Given the description of an element on the screen output the (x, y) to click on. 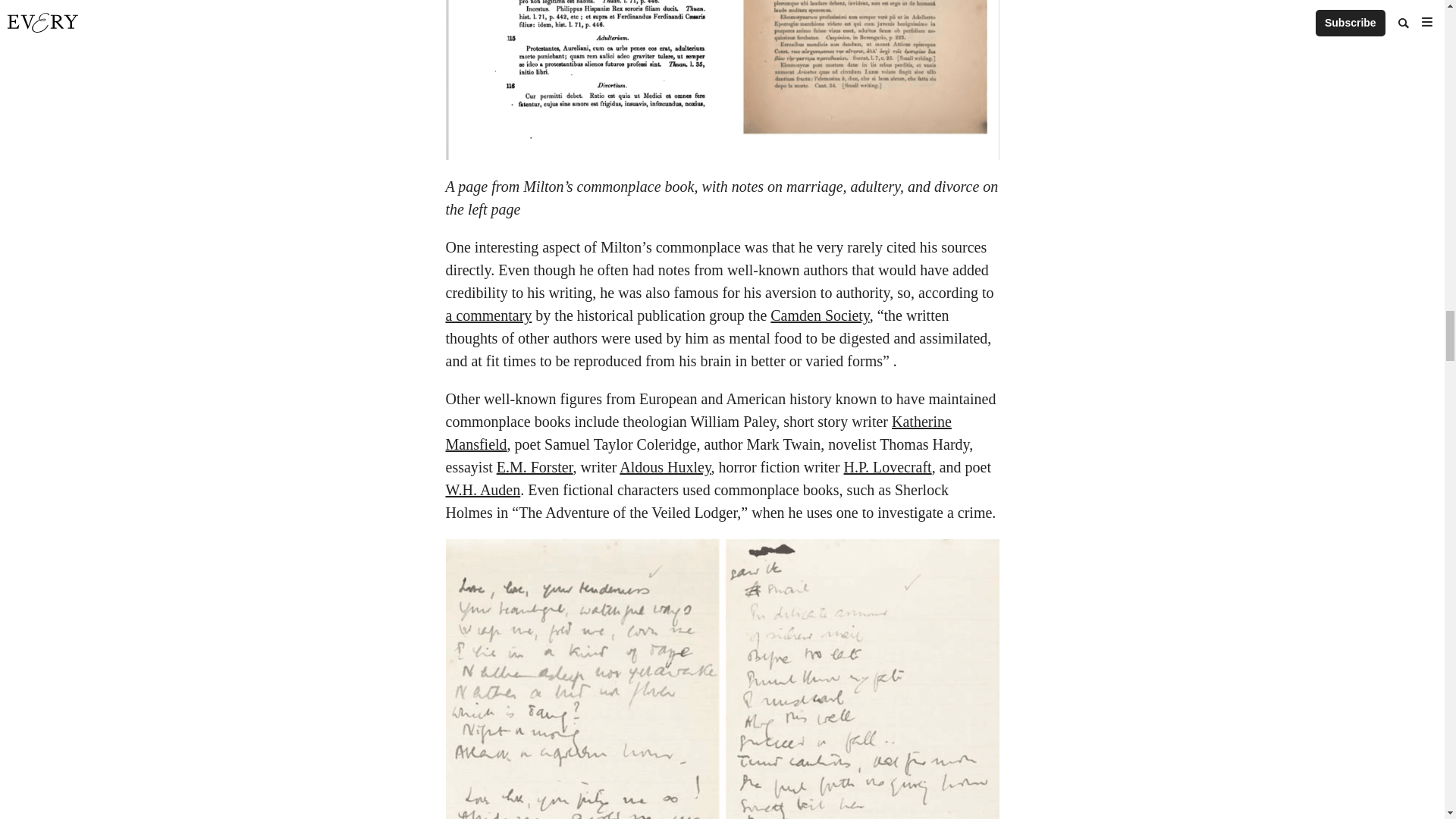
H.P. Lovecraft (887, 466)
E.M. Forster (534, 466)
Katherine Mansfield (698, 432)
Camden Society (819, 315)
Aldous Huxley (665, 466)
a commentary (488, 315)
W.H. Auden (483, 489)
